Given the description of an element on the screen output the (x, y) to click on. 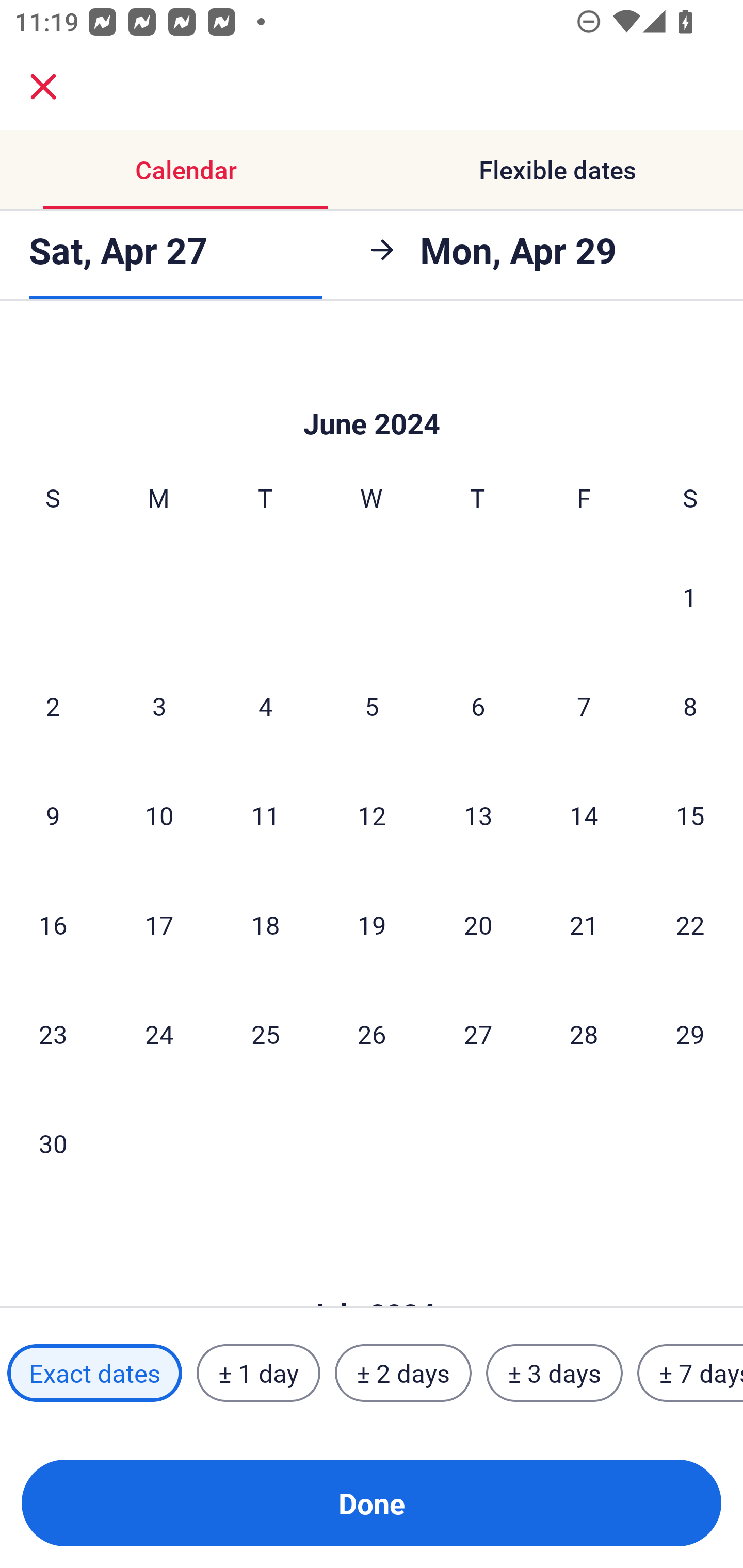
close. (43, 86)
Flexible dates (557, 170)
Skip to Done (371, 392)
1 Saturday, June 1, 2024 (689, 596)
2 Sunday, June 2, 2024 (53, 705)
3 Monday, June 3, 2024 (159, 705)
4 Tuesday, June 4, 2024 (265, 705)
5 Wednesday, June 5, 2024 (371, 705)
6 Thursday, June 6, 2024 (477, 705)
7 Friday, June 7, 2024 (584, 705)
8 Saturday, June 8, 2024 (690, 705)
9 Sunday, June 9, 2024 (53, 815)
10 Monday, June 10, 2024 (159, 815)
11 Tuesday, June 11, 2024 (265, 815)
12 Wednesday, June 12, 2024 (371, 815)
13 Thursday, June 13, 2024 (477, 815)
14 Friday, June 14, 2024 (584, 815)
15 Saturday, June 15, 2024 (690, 815)
16 Sunday, June 16, 2024 (53, 923)
17 Monday, June 17, 2024 (159, 923)
